Given the description of an element on the screen output the (x, y) to click on. 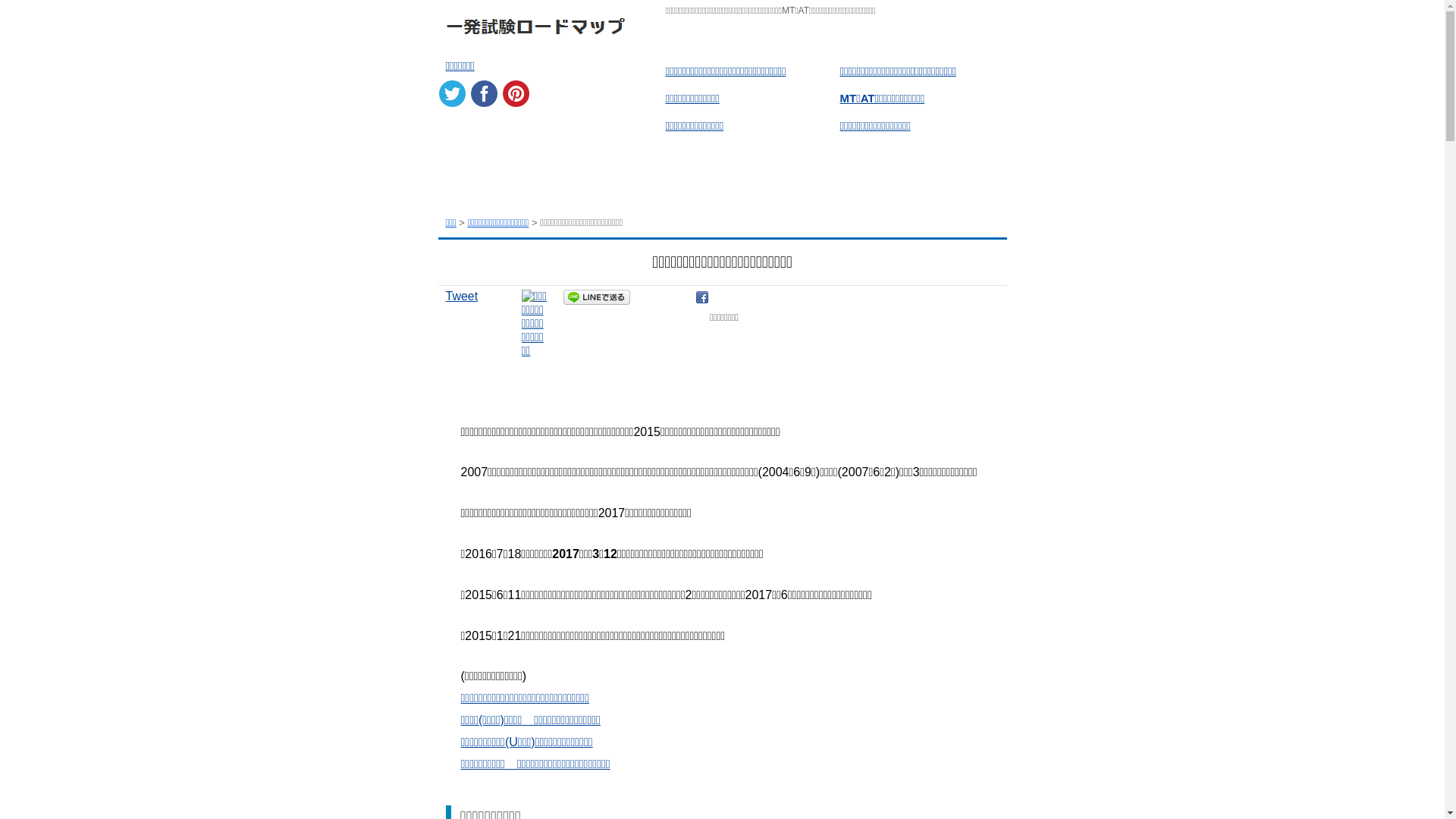
Twitter Element type: hover (451, 93)
Facebook Element type: hover (483, 93)
Tweet Element type: text (461, 295)
Pinterest Element type: hover (515, 93)
Advertisement Element type: hover (729, 368)
